Given the description of an element on the screen output the (x, y) to click on. 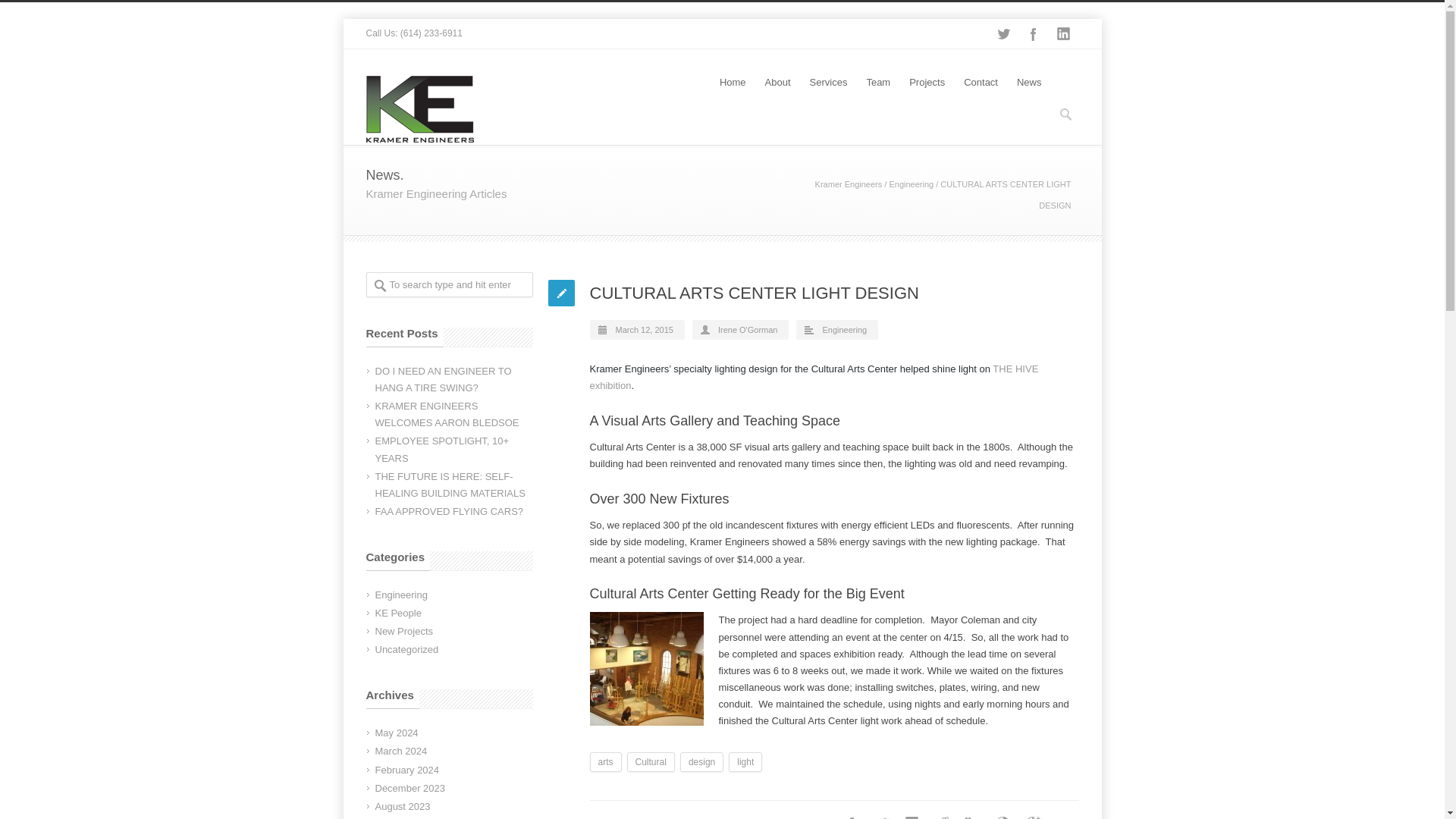
light (745, 762)
arts (605, 762)
THE HIVE exhibition (814, 377)
Irene O'Gorman (747, 329)
design (701, 762)
Cultural (651, 762)
Kramer Engineers (848, 184)
Delicious (1002, 813)
To search type and hit enter (448, 284)
Facebook (1032, 33)
